Given the description of an element on the screen output the (x, y) to click on. 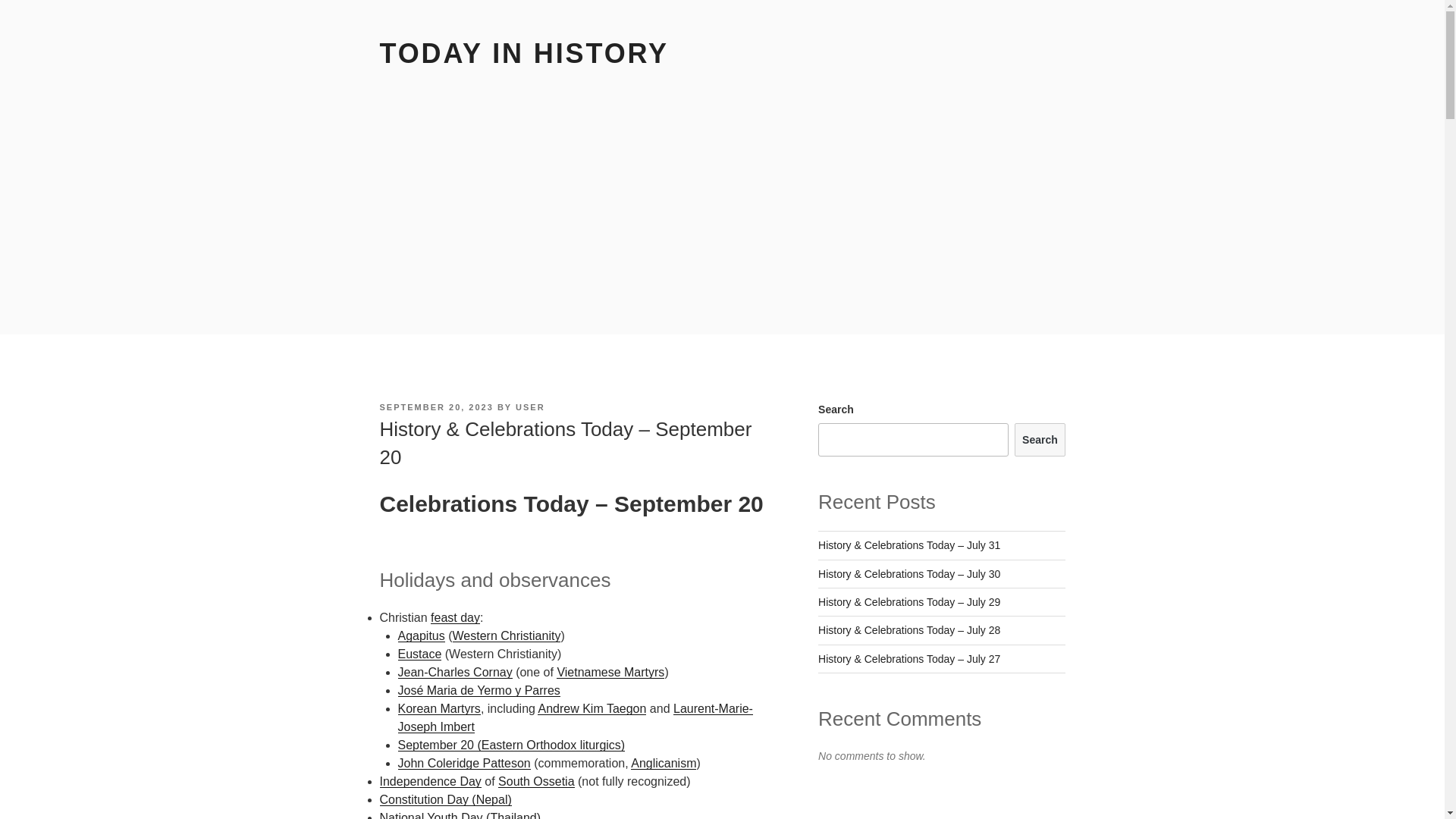
John Coleridge Patteson (463, 762)
Feast day (455, 617)
Independence Day (429, 780)
Anglicanism (662, 762)
Anglicanism (662, 762)
TODAY IN HISTORY (523, 52)
Agapitus (420, 635)
USER (529, 406)
John Coleridge Patteson (463, 762)
Laurent-Marie-Joseph Imbert (574, 717)
Korean Martyrs (438, 707)
feast day (455, 617)
Vietnamese Martyrs (609, 671)
SEPTEMBER 20, 2023 (435, 406)
Independence Day (429, 780)
